Given the description of an element on the screen output the (x, y) to click on. 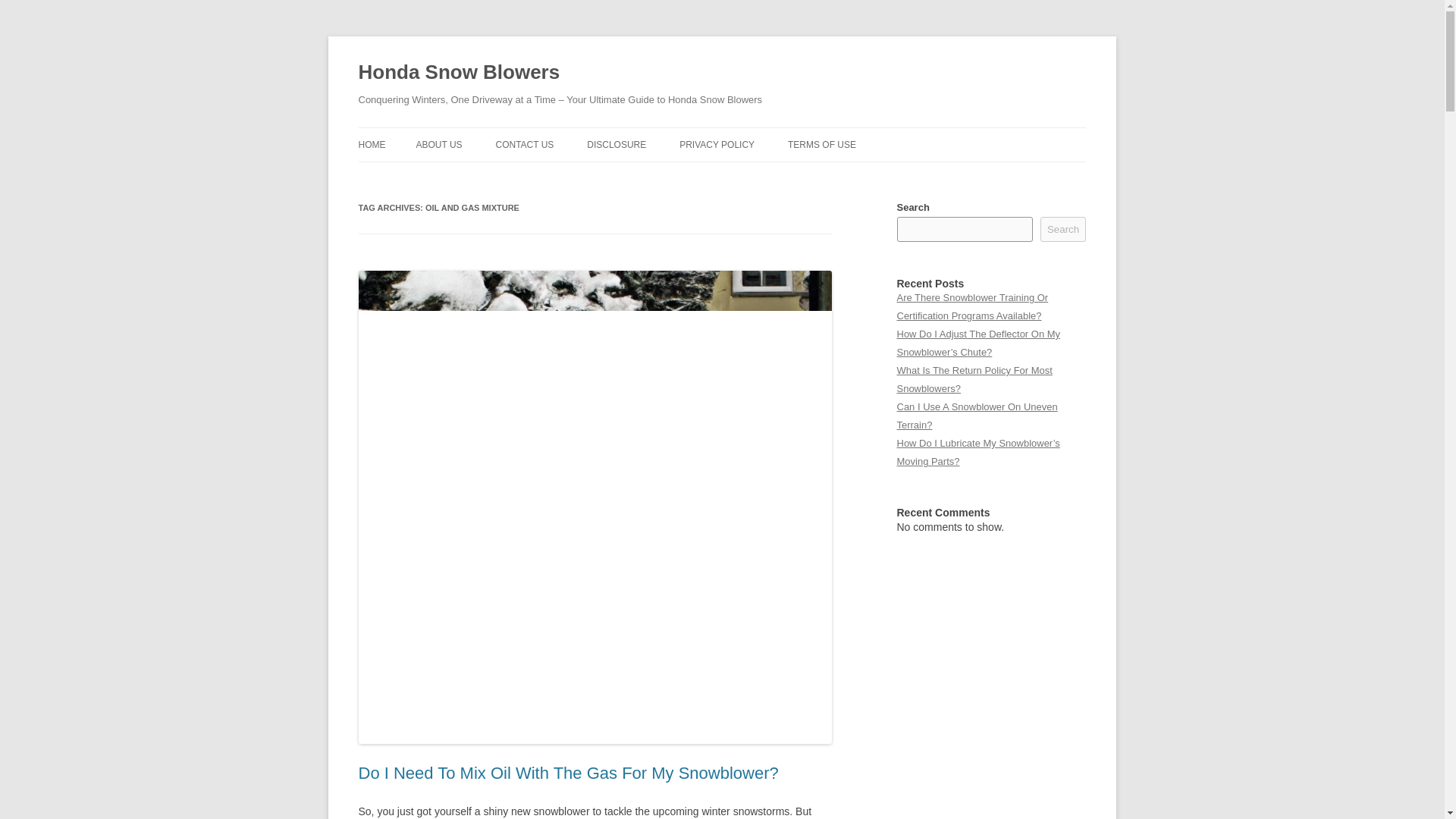
TERMS OF USE (821, 144)
DISCLOSURE (616, 144)
CONTACT US (524, 144)
Do I Need To Mix Oil With The Gas For My Snowblower? (567, 772)
Can I Use A Snowblower On Uneven Terrain? (976, 415)
ABOUT US (437, 144)
Honda Snow Blowers (458, 72)
PRIVACY POLICY (716, 144)
